Given the description of an element on the screen output the (x, y) to click on. 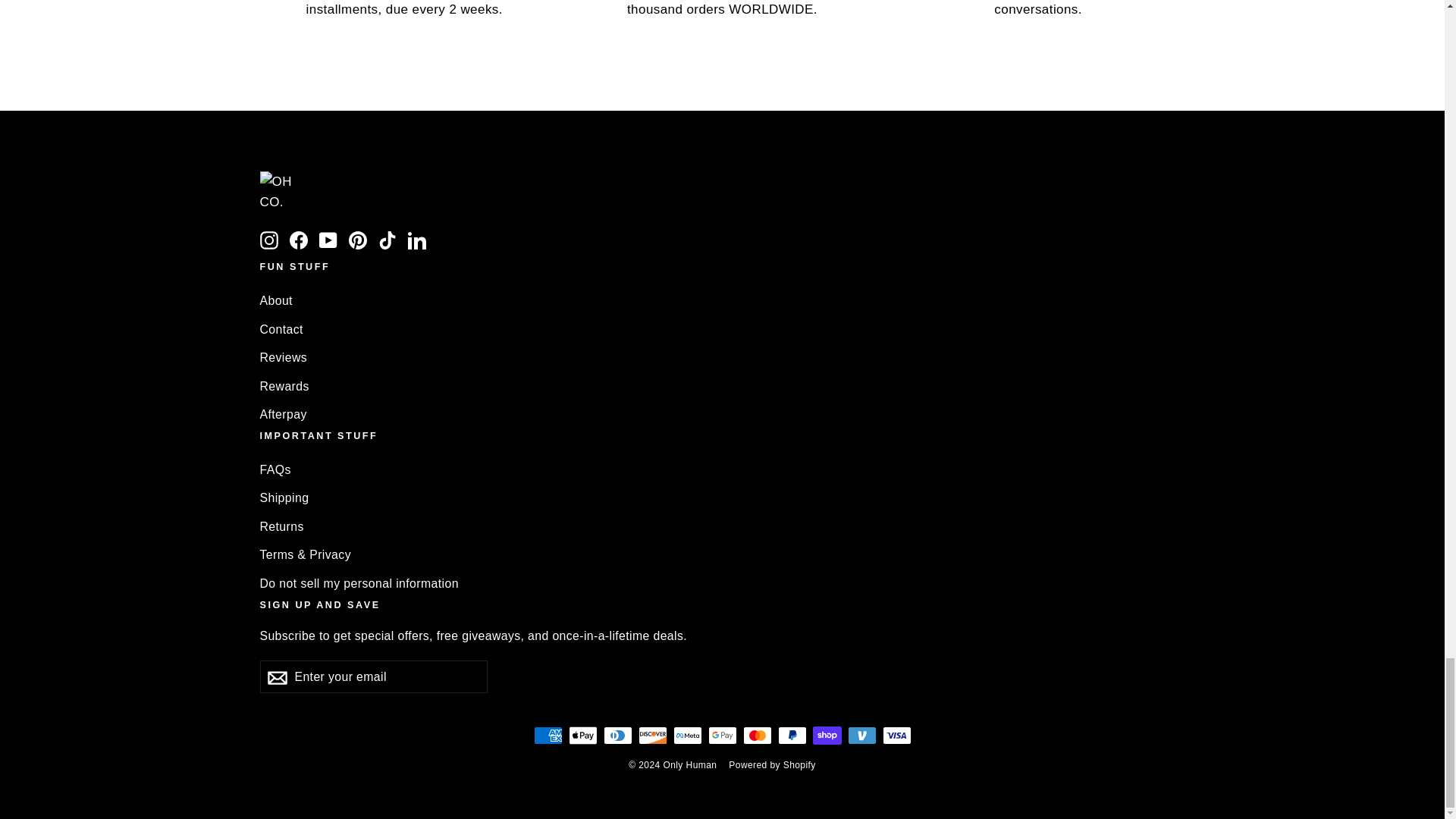
instagram (268, 239)
American Express (548, 735)
Only Human on Facebook (298, 240)
icon-email (276, 678)
PayPal (791, 735)
Google Pay (721, 735)
Only Human on Pinterest (357, 240)
Diners Club (617, 735)
Meta Pay (686, 735)
Discover (652, 735)
Mastercard (756, 735)
Only Human on YouTube (327, 240)
Only Human on LinkedIn (416, 240)
Apple Pay (582, 735)
